Given the description of an element on the screen output the (x, y) to click on. 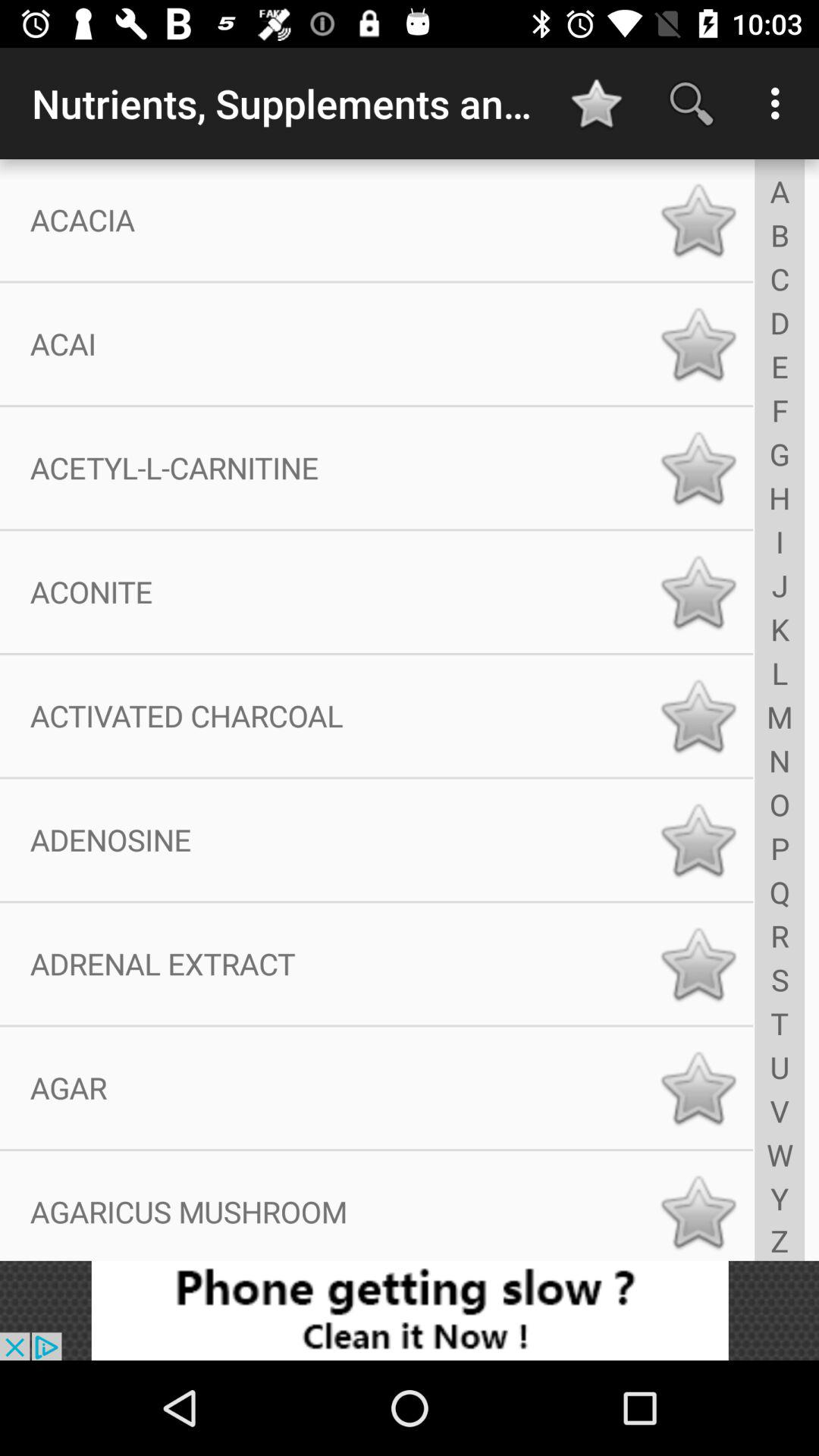
favorite agaricus mushroom (697, 1211)
